Given the description of an element on the screen output the (x, y) to click on. 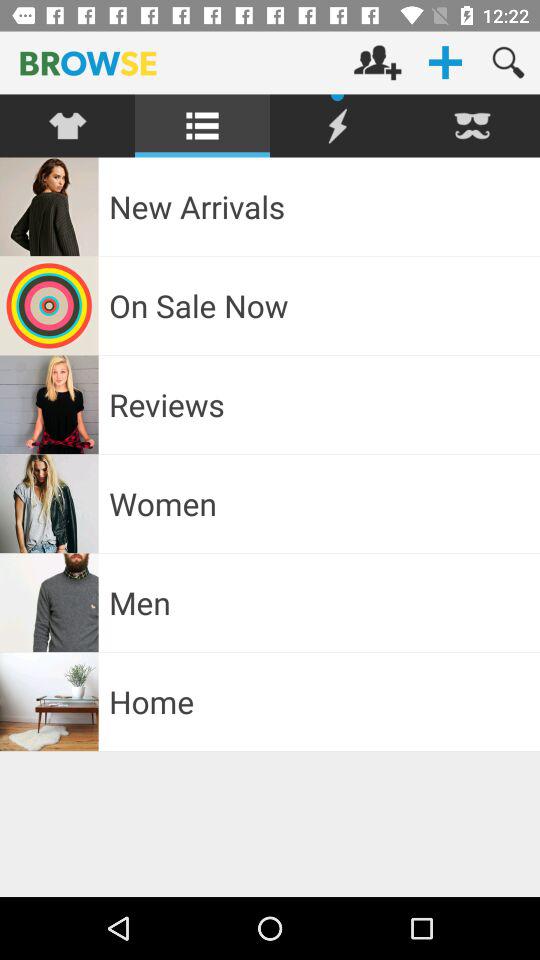
magnifier icon (508, 62)
click on the second option in the menu bar (202, 126)
click on the above right icon add people (377, 62)
click the button on the left to the  button on the web page (377, 62)
